Given the description of an element on the screen output the (x, y) to click on. 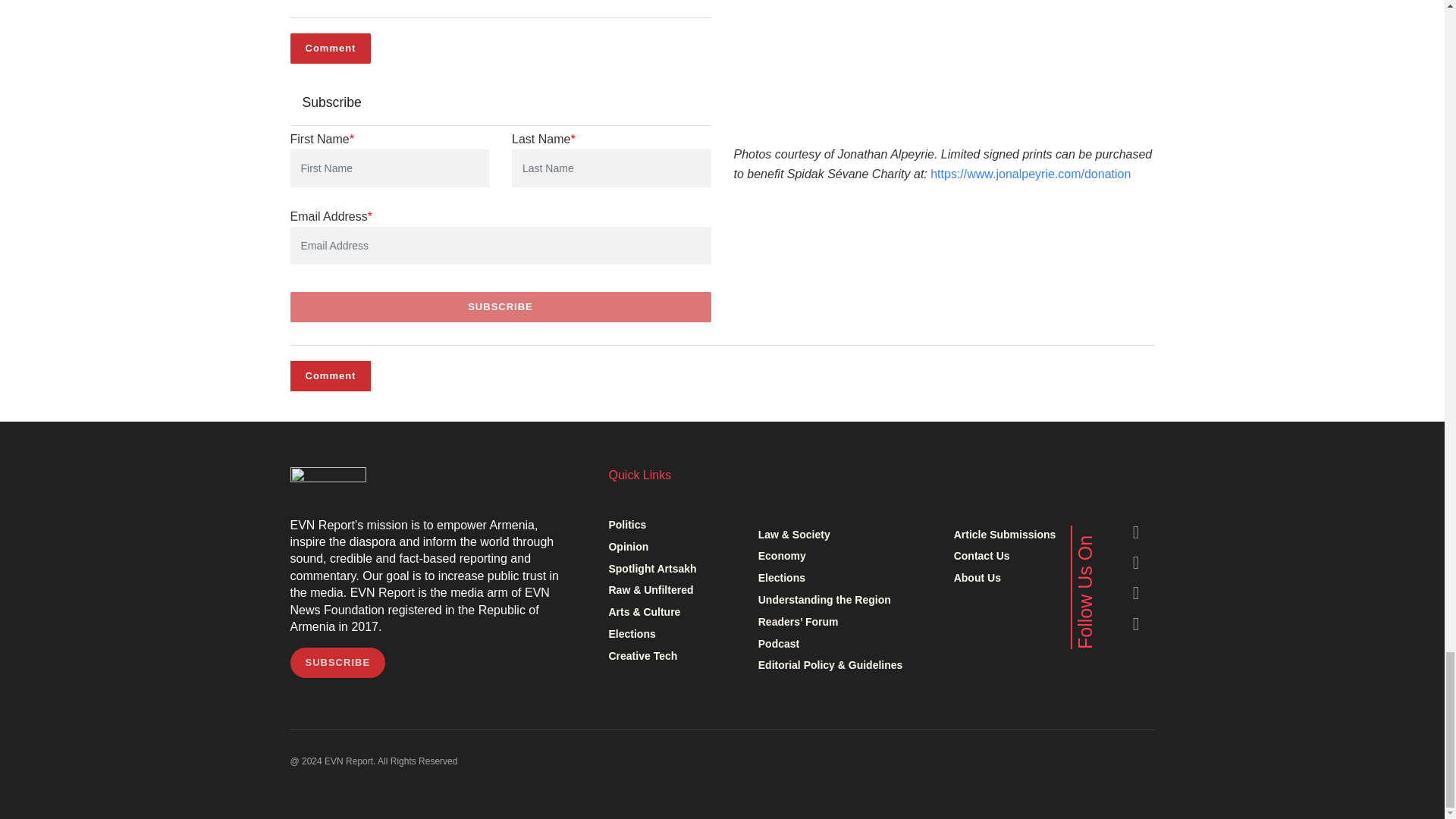
'Leaving Nothing Behind' by Jonathan Alpeyrie, 2020 (942, 61)
Comment (330, 48)
Subscribe (499, 306)
